Given the description of an element on the screen output the (x, y) to click on. 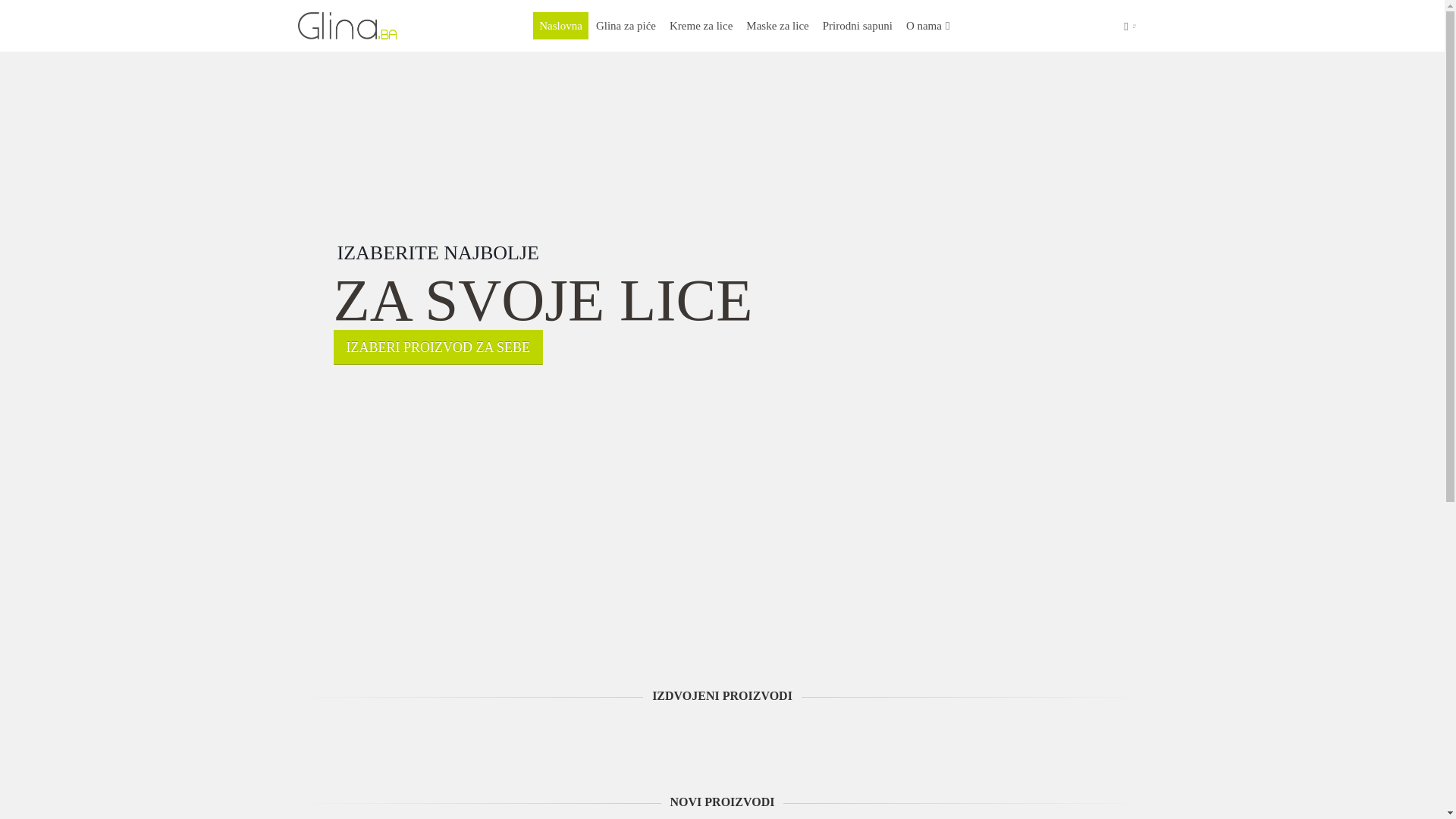
IZABERI PROIZVOD ZA SEBE Element type: text (438, 346)
Maske za lice Element type: text (777, 25)
Kreme za lice Element type: text (700, 25)
O nama Element type: text (928, 25)
Naslovna Element type: text (560, 25)
Prirodni sapuni Element type: text (857, 25)
Glina.ba - Prirodna kozmetika Element type: hover (346, 25)
